Given the description of an element on the screen output the (x, y) to click on. 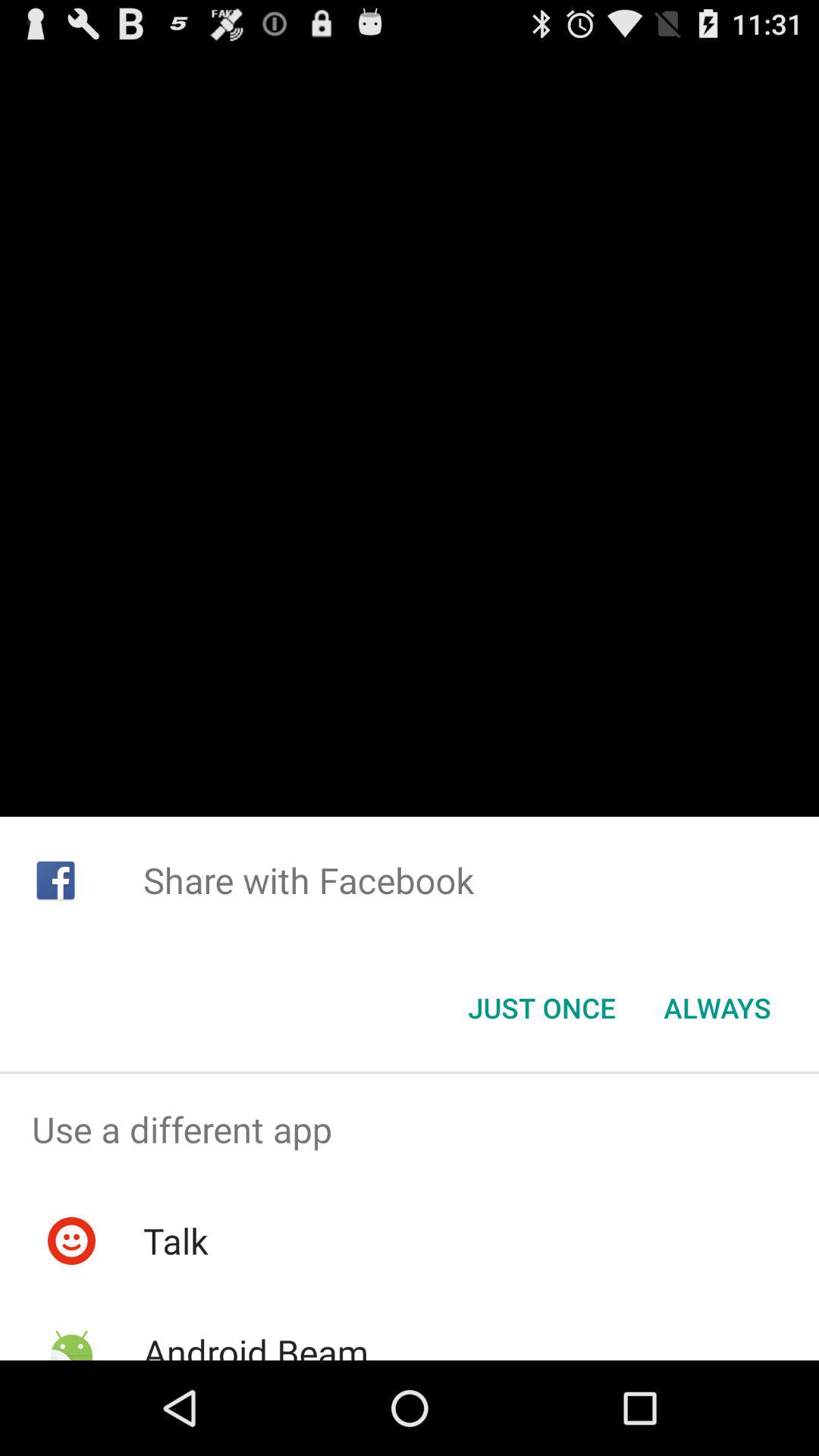
tap app above talk (409, 1129)
